Given the description of an element on the screen output the (x, y) to click on. 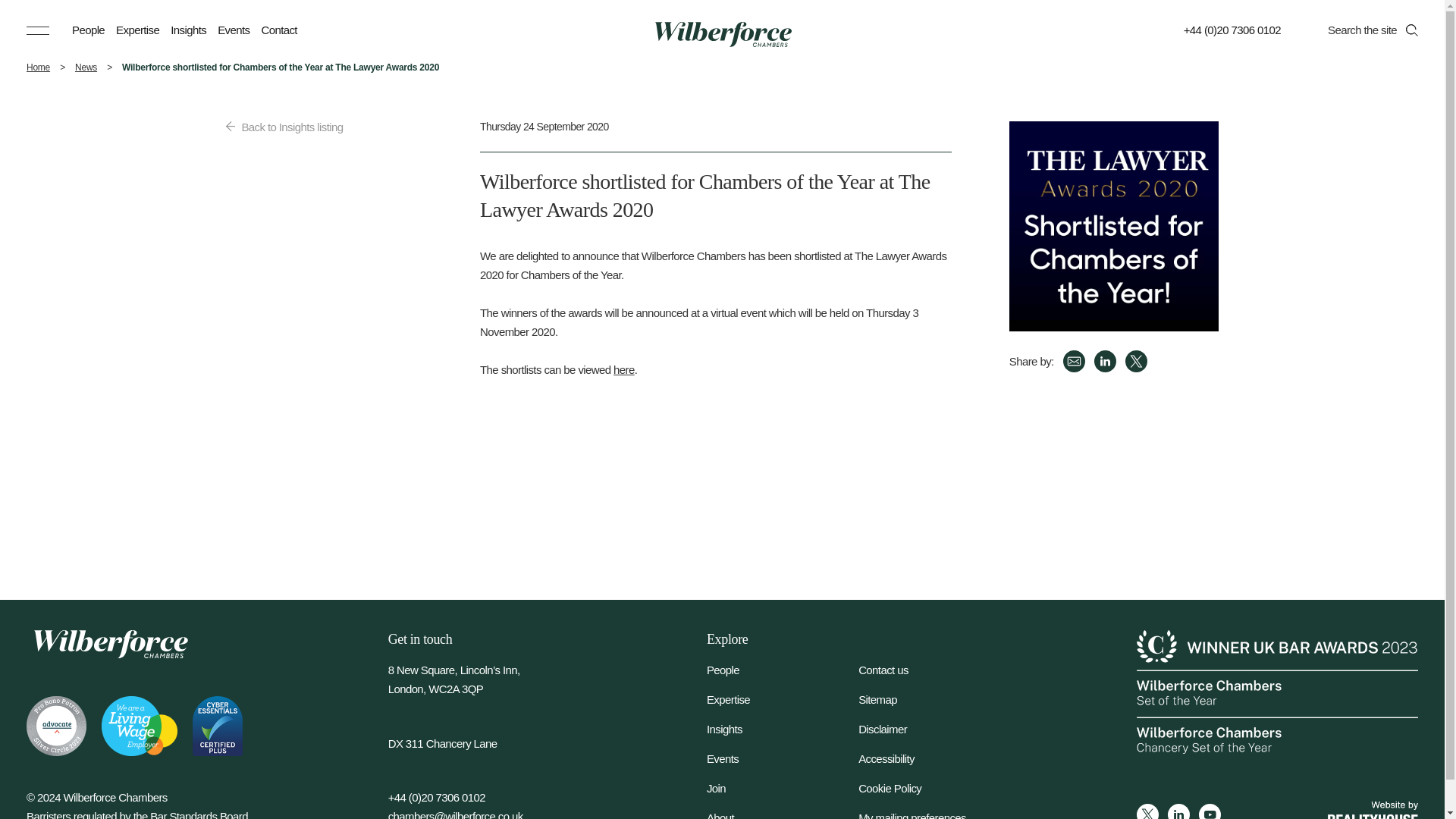
Events (782, 758)
Contact us (934, 669)
Contact (278, 29)
X (1136, 361)
Join (782, 788)
My mailing preferences (934, 814)
here (623, 369)
About (782, 814)
LinkedIn (1178, 811)
Expertise (782, 699)
